Given the description of an element on the screen output the (x, y) to click on. 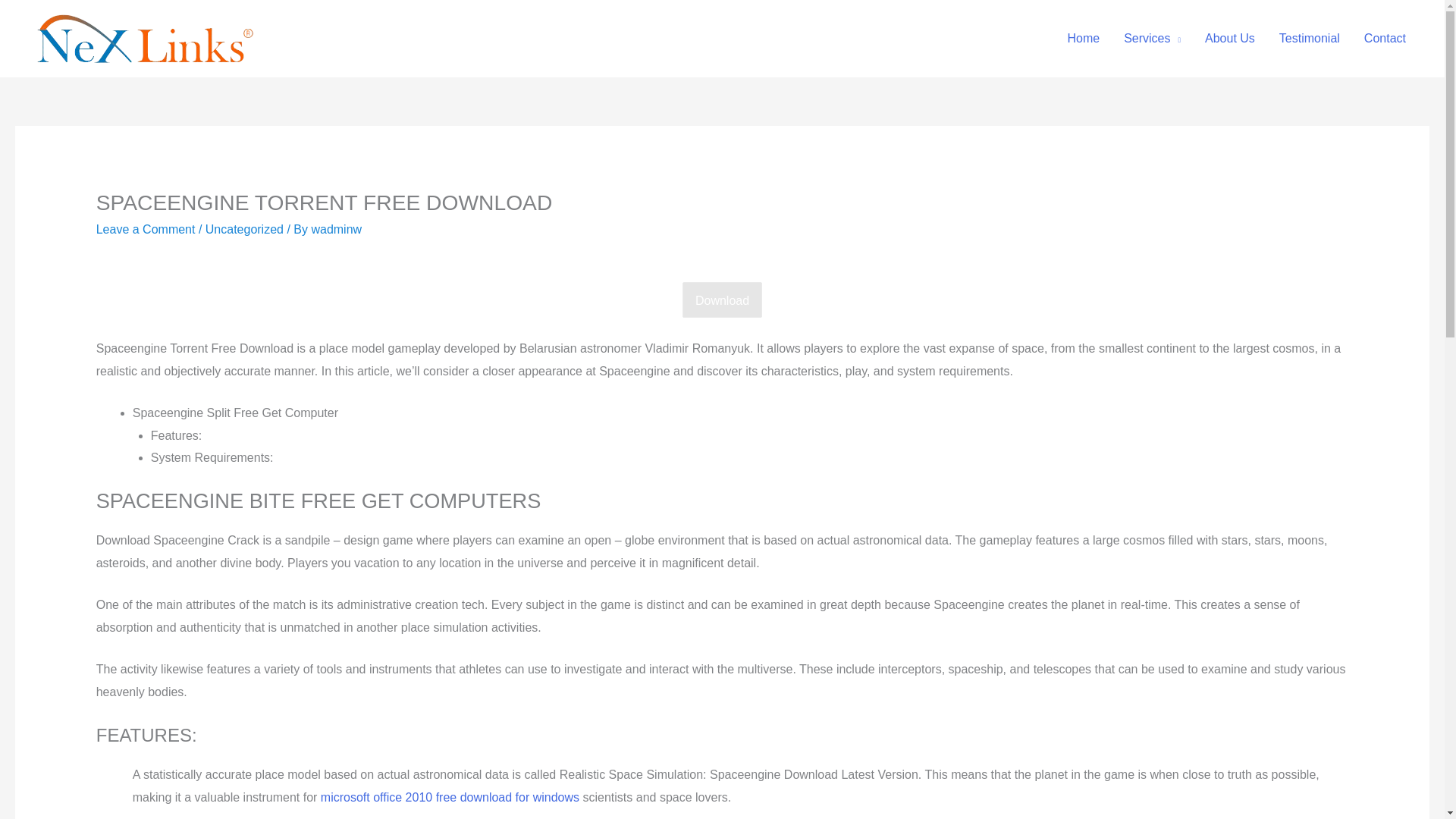
Contact (1385, 38)
Download (721, 300)
Uncategorized (244, 228)
About Us (1229, 38)
View all posts by wadminw (336, 228)
Download (721, 299)
Leave a Comment (145, 228)
wadminw (336, 228)
microsoft office 2010 free download for windows (449, 797)
Home (1083, 38)
